Given the description of an element on the screen output the (x, y) to click on. 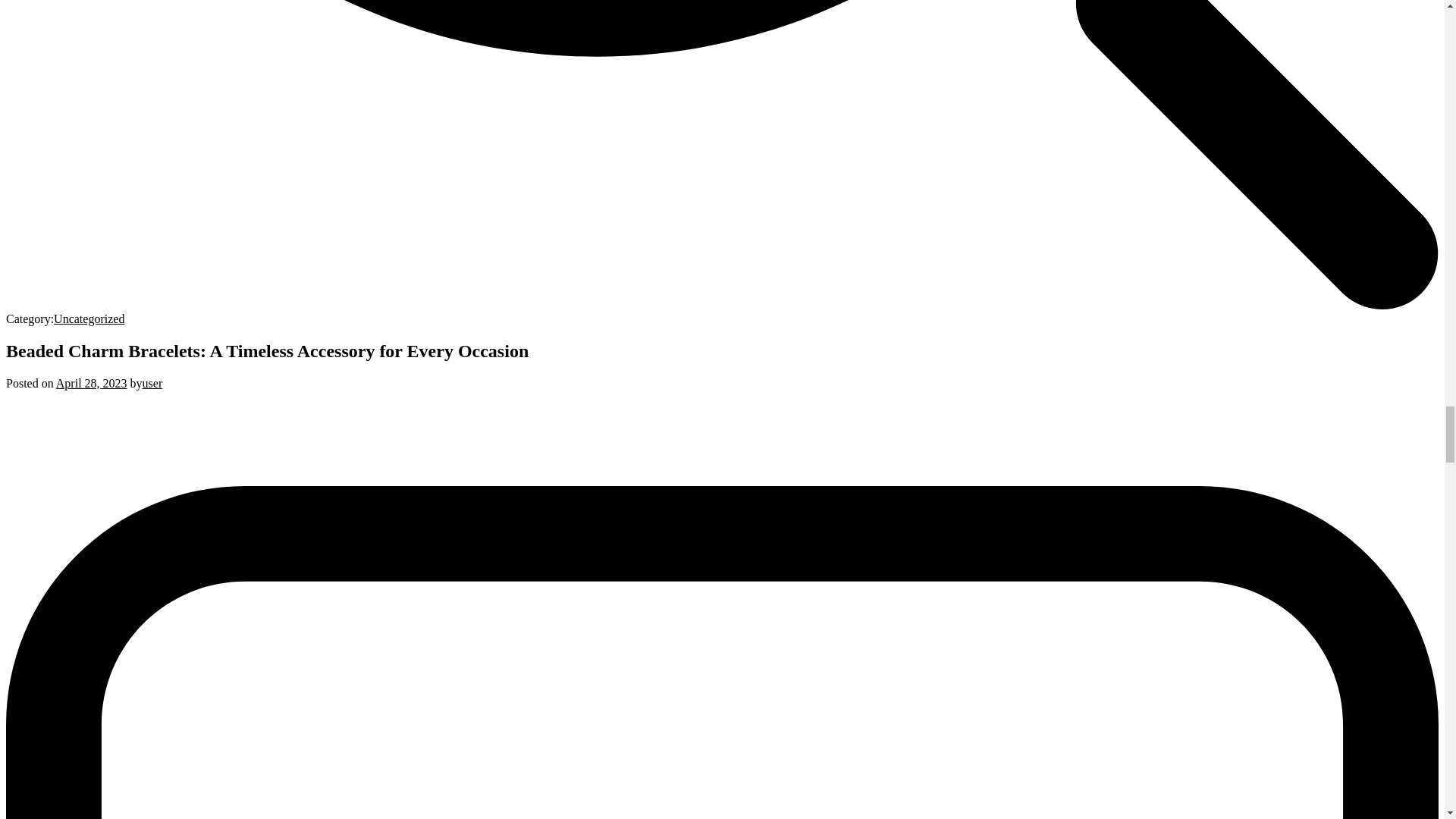
Uncategorized (88, 318)
April 28, 2023 (92, 382)
user (152, 382)
